Given the description of an element on the screen output the (x, y) to click on. 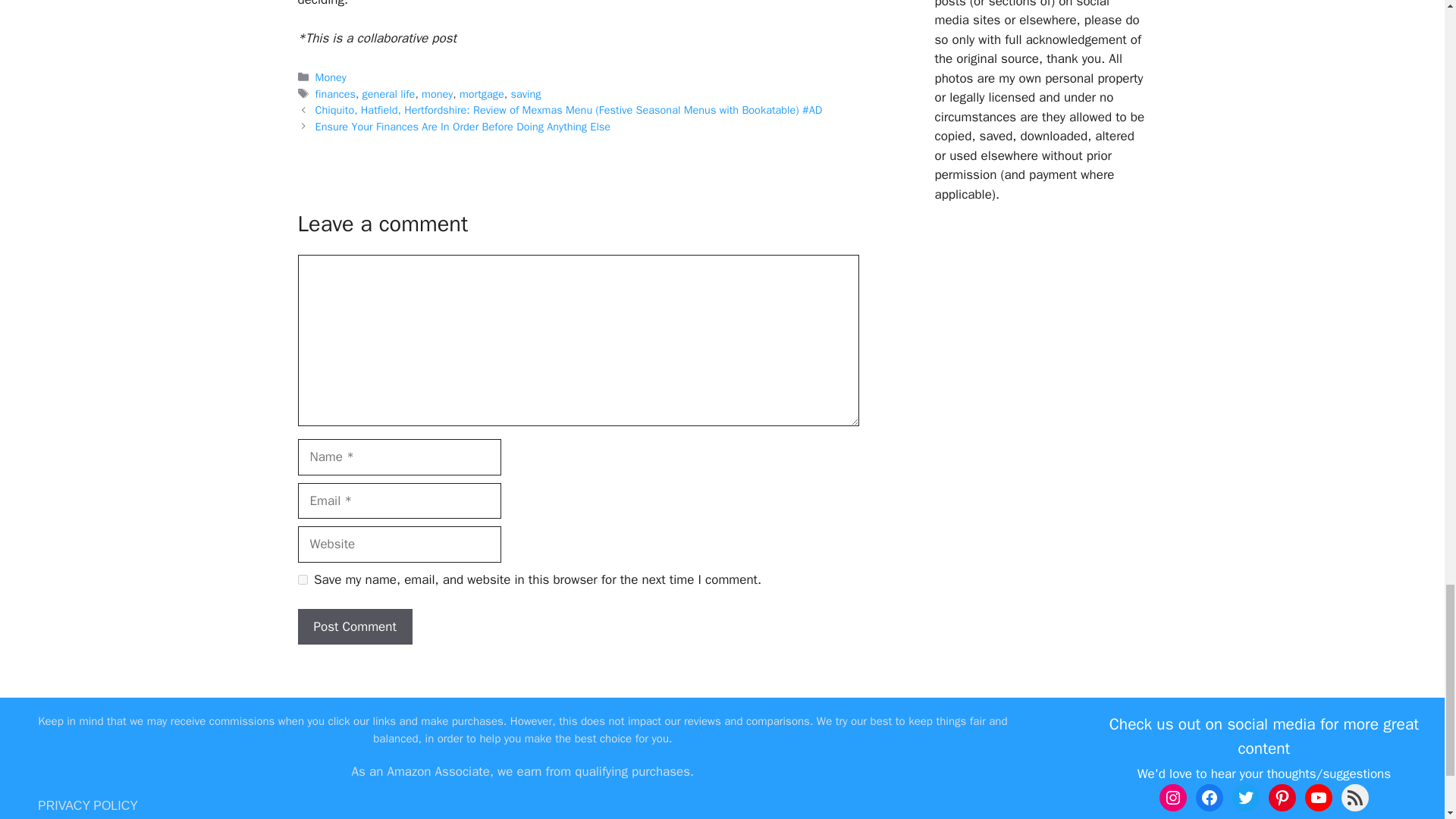
Post Comment (354, 627)
finances (335, 93)
Post Comment (354, 627)
Instagram (1172, 797)
PRIVACY POLICY (87, 805)
yes (302, 579)
mortgage (481, 93)
Ensure Your Finances Are In Order Before Doing Anything Else (463, 126)
saving (525, 93)
Money (330, 77)
